Given the description of an element on the screen output the (x, y) to click on. 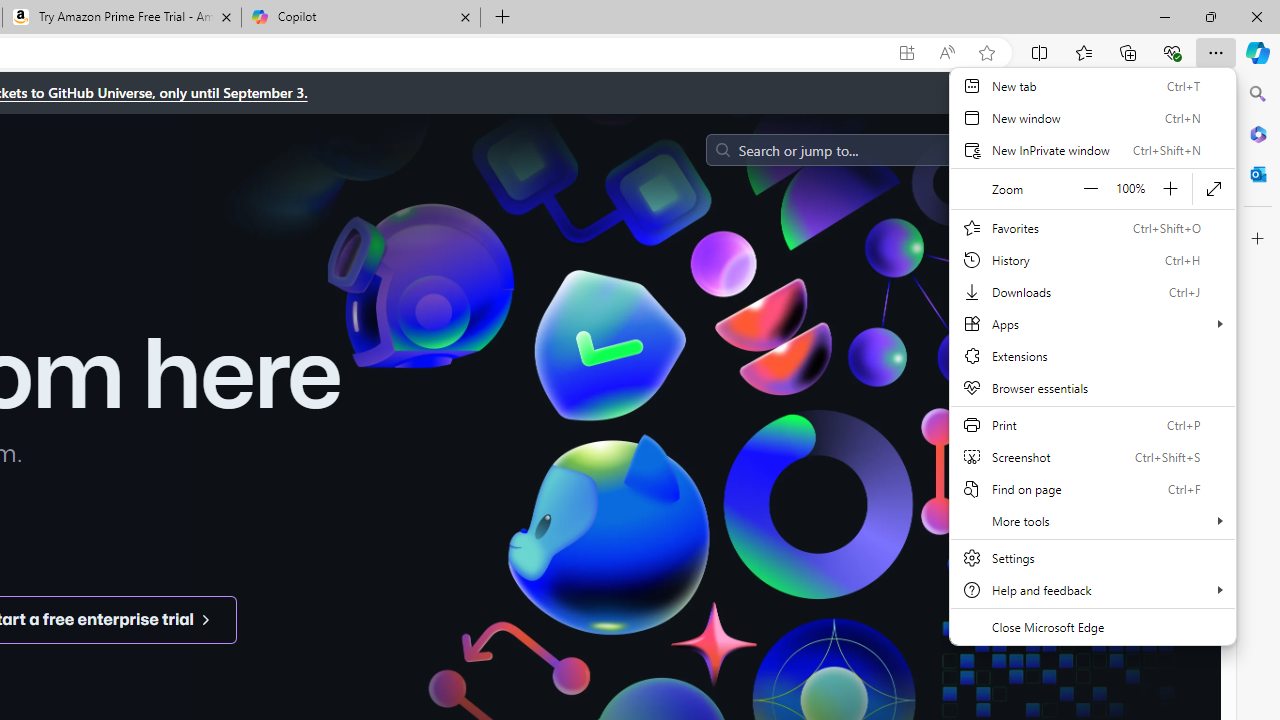
Help and feedback (1092, 589)
Copilot (360, 17)
Find on page (1092, 488)
Enter full screen (F11) (1213, 188)
More tools (1092, 520)
New window (1092, 117)
Sign in (1070, 149)
Settings and more (1092, 356)
Class: octicon arrow-symbol-mktg (205, 619)
Settings and more (1092, 368)
